Given the description of an element on the screen output the (x, y) to click on. 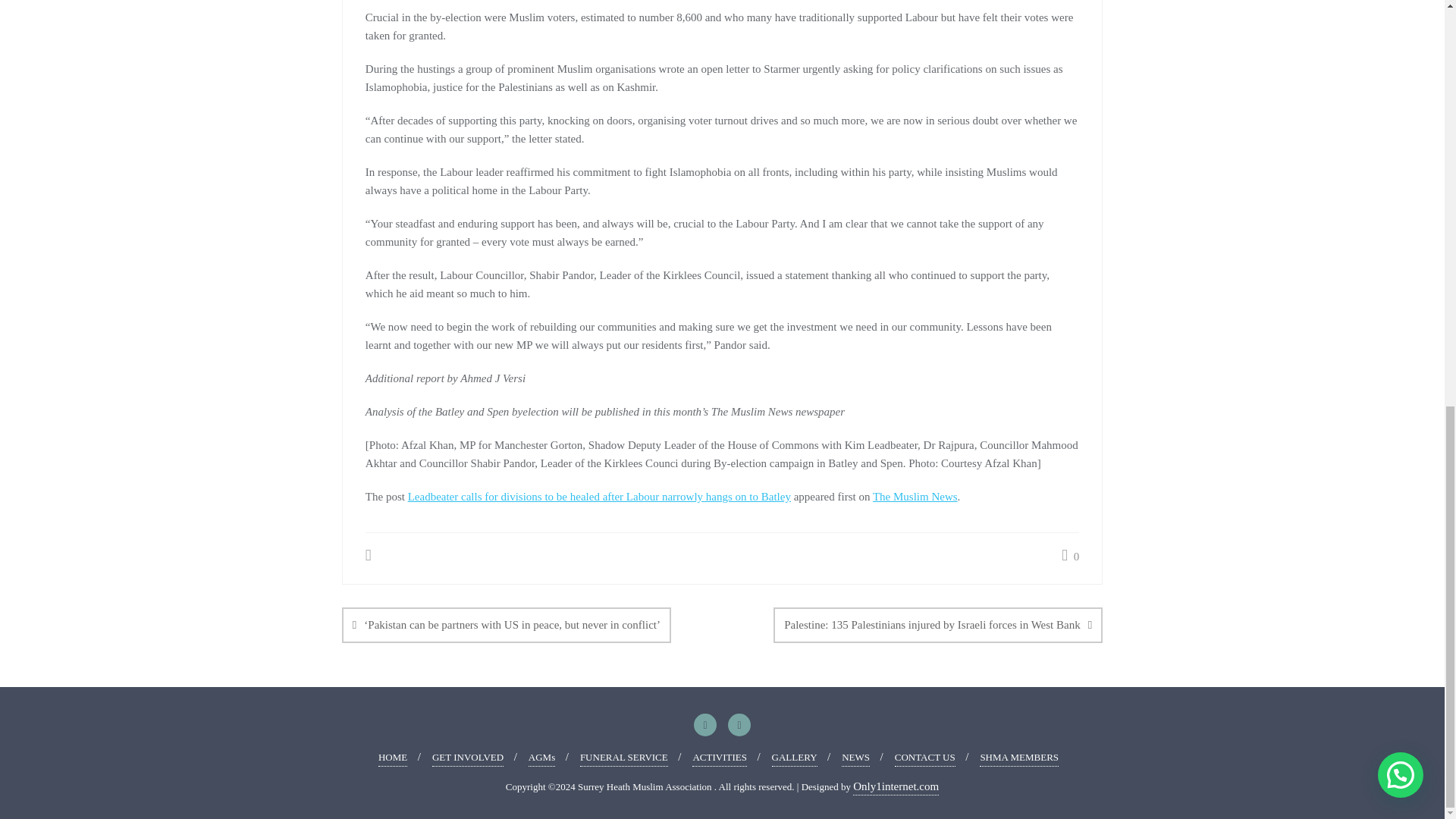
GET INVOLVED (467, 757)
AGMs (541, 757)
The Muslim News (915, 496)
FUNERAL SERVICE (623, 757)
HOME (392, 757)
ACTIVITIES (719, 757)
